Given the description of an element on the screen output the (x, y) to click on. 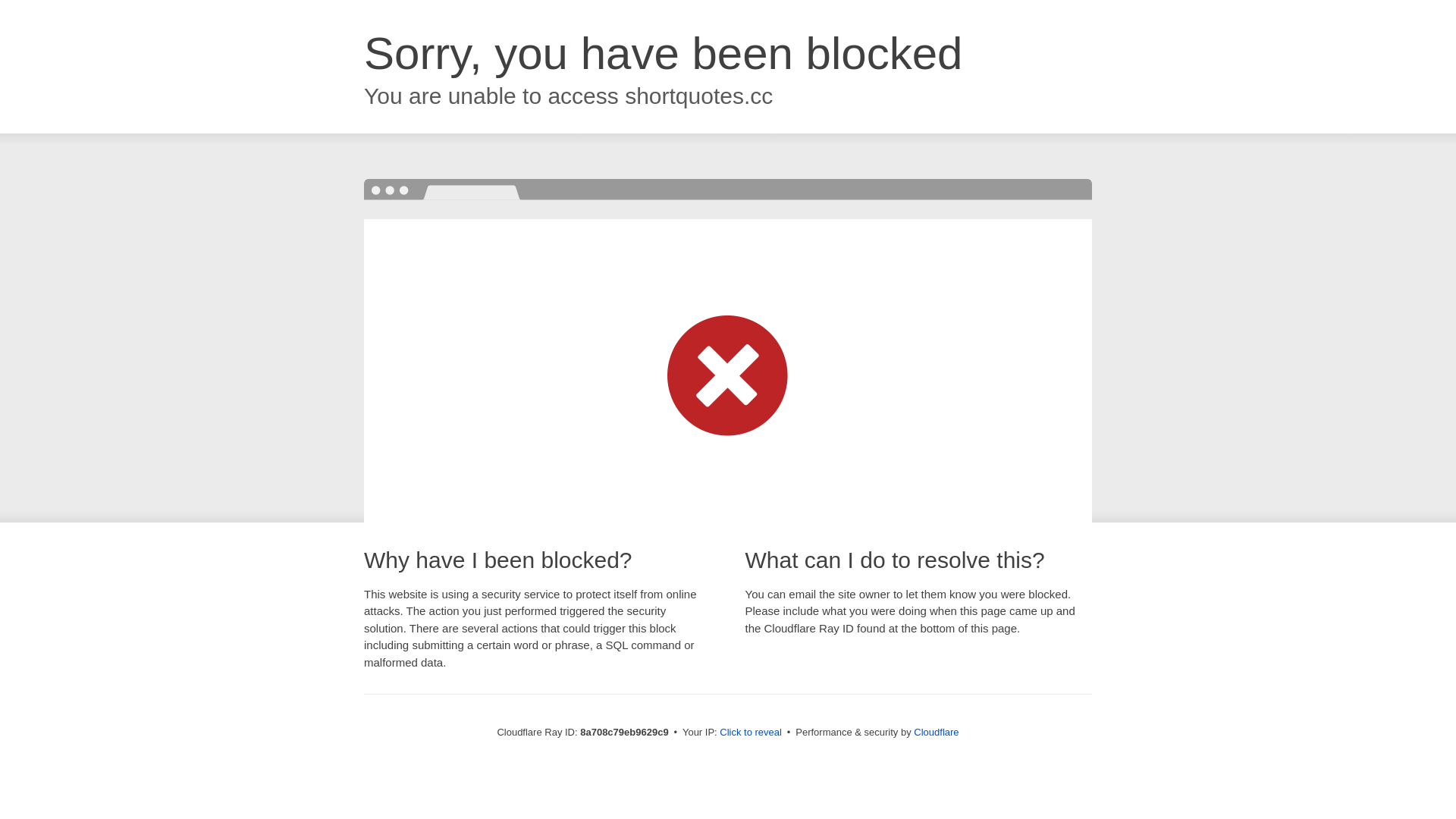
Click to reveal (750, 732)
Cloudflare (936, 731)
